Given the description of an element on the screen output the (x, y) to click on. 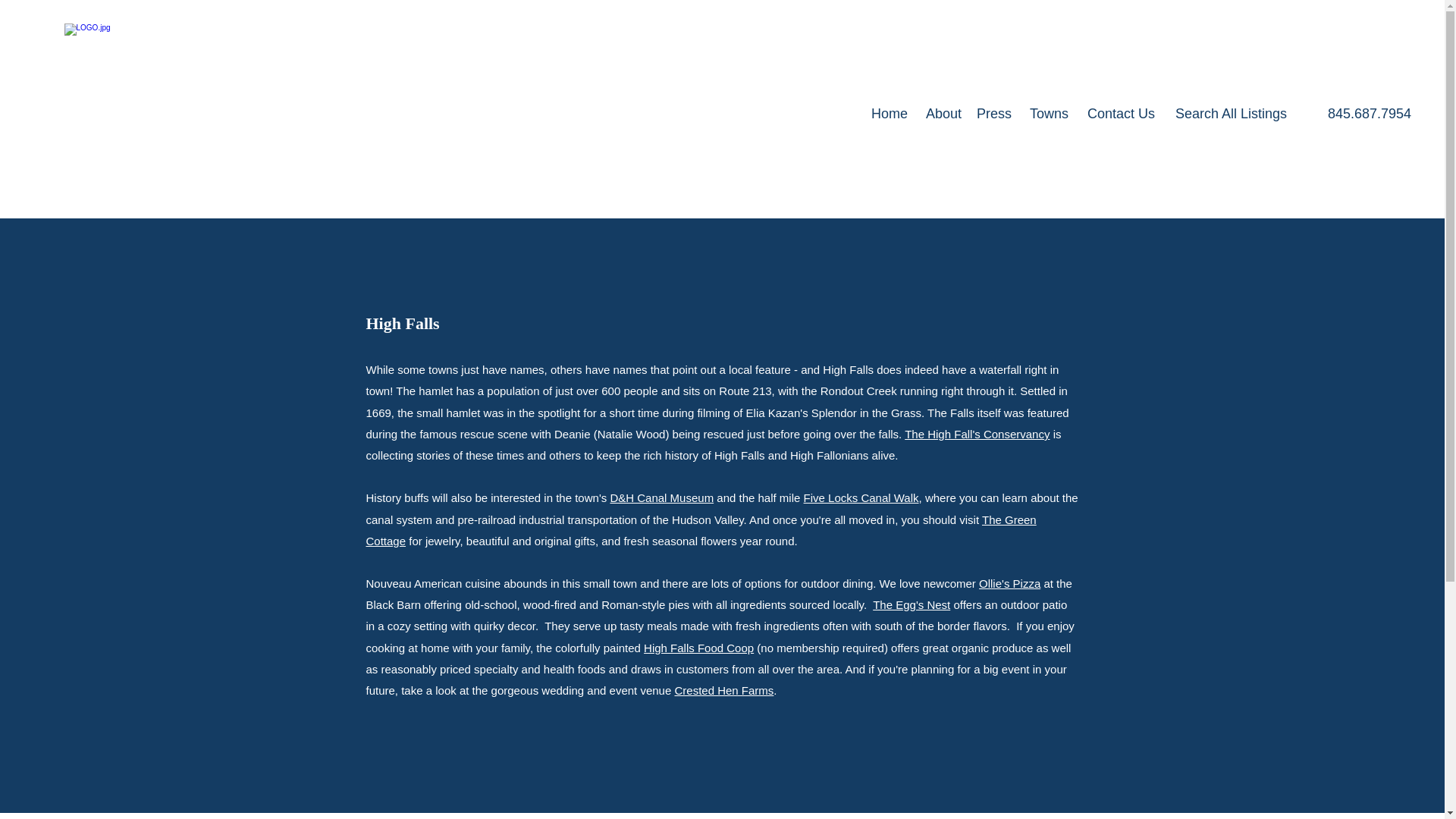
Contact Us (1118, 113)
The Egg's Nest (911, 604)
Home (887, 113)
The Green Cottage (700, 530)
Five Locks Canal Walk (860, 497)
About (942, 113)
The High Fall's Conservancy (976, 433)
Search All Listings (1227, 113)
Crested Hen Farms (723, 689)
High Falls Food Coop (698, 647)
Ollie's Pizza (1009, 583)
Press (994, 113)
